Given the description of an element on the screen output the (x, y) to click on. 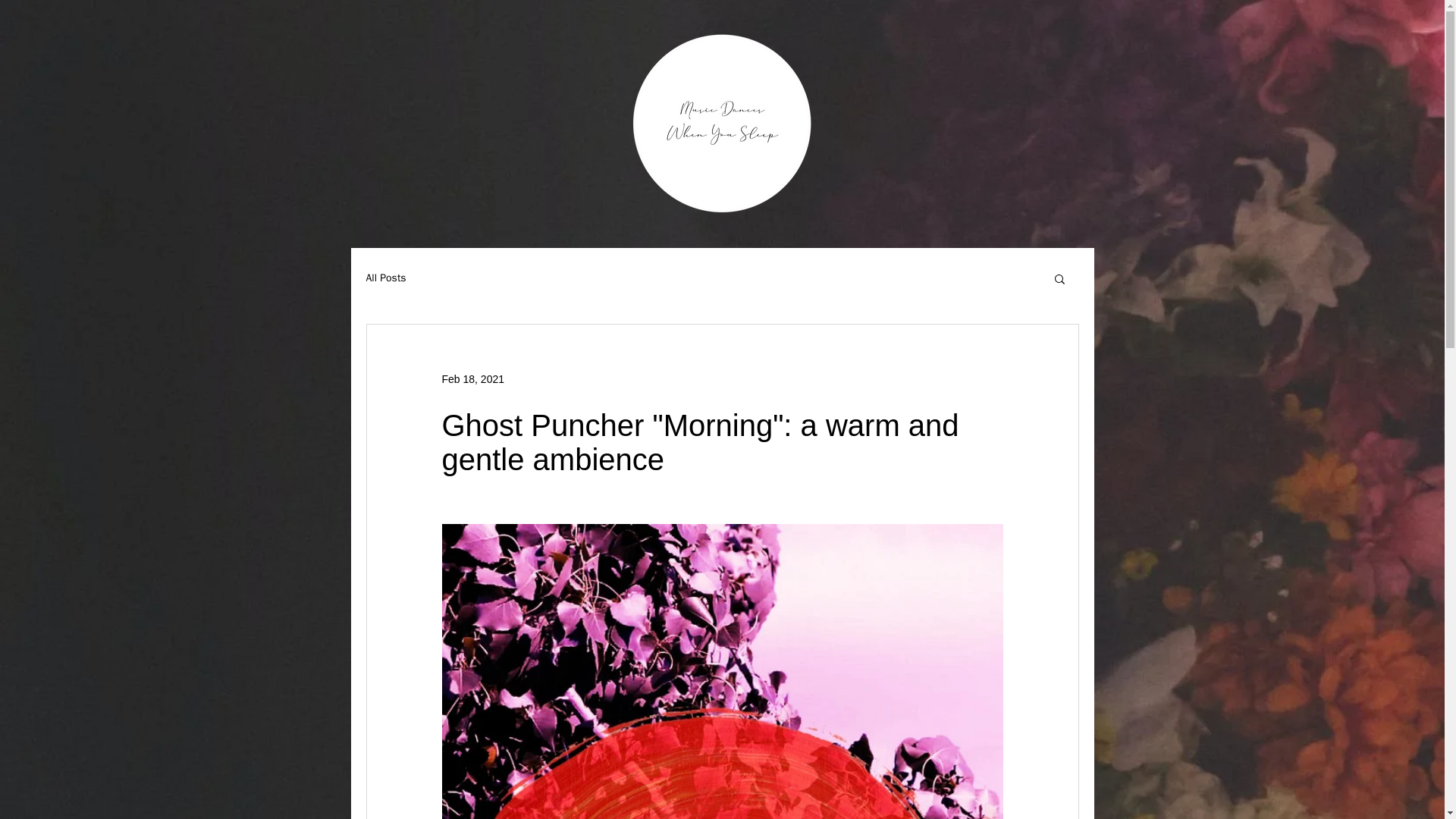
All Posts (385, 278)
Feb 18, 2021 (472, 378)
